Given the description of an element on the screen output the (x, y) to click on. 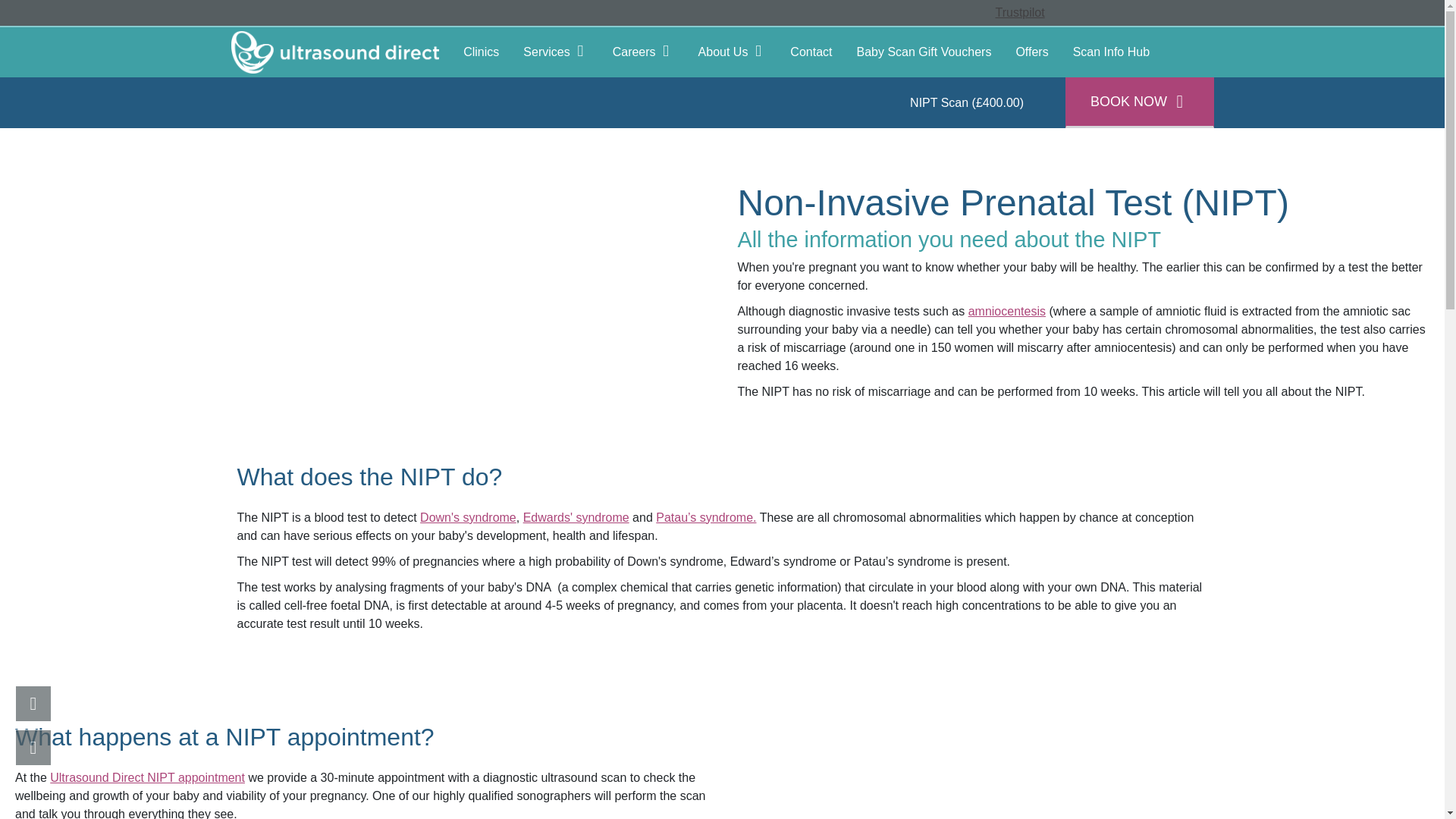
Services (555, 51)
Trustpilot (1018, 11)
BOOK (32, 703)
CLINICS (32, 747)
Clinics (481, 51)
